Given the description of an element on the screen output the (x, y) to click on. 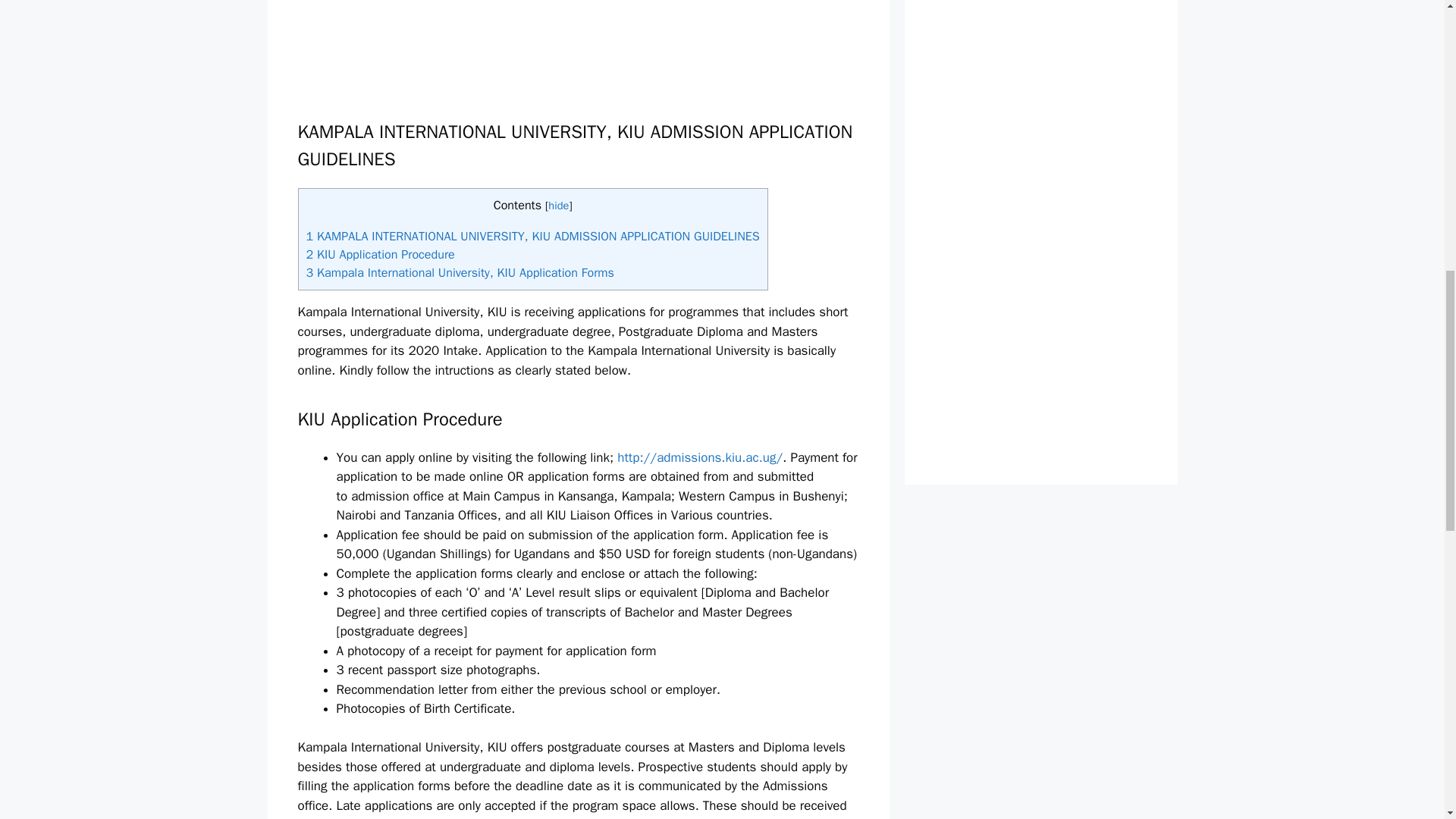
2 KIU Application Procedure (379, 254)
3 Kampala International University, KIU Application Forms (459, 272)
Advertisement (644, 17)
Scroll back to top (1406, 720)
hide (558, 205)
